Given the description of an element on the screen output the (x, y) to click on. 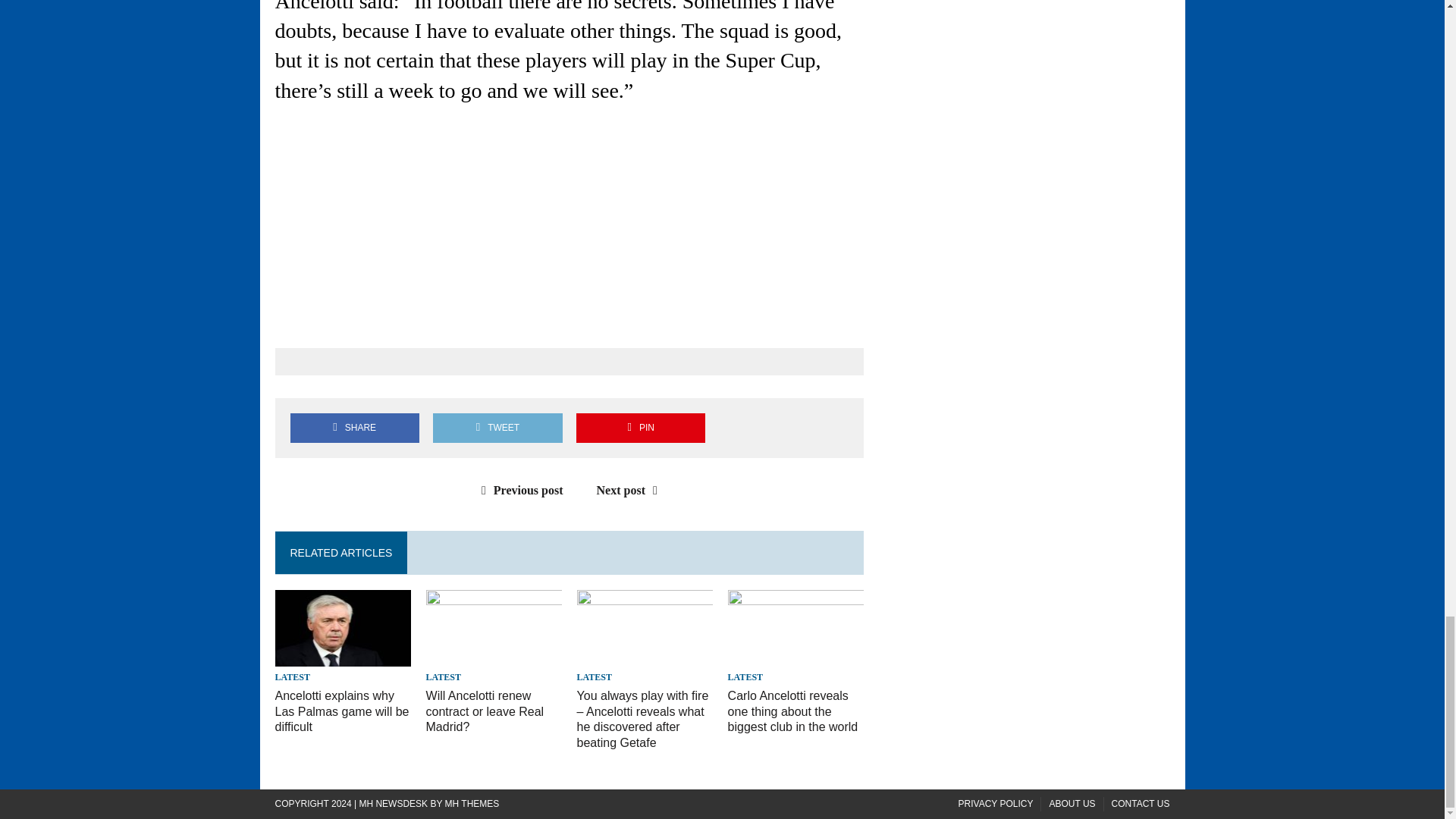
PIN (640, 428)
Will Ancelotti renew contract or leave Real Madrid? (485, 711)
Share on Facebook (354, 428)
LATEST (593, 676)
LATEST (291, 676)
Previous post (518, 490)
PRIVACY POLICY (995, 803)
MH THEMES (472, 803)
Advertisement (569, 226)
